Given the description of an element on the screen output the (x, y) to click on. 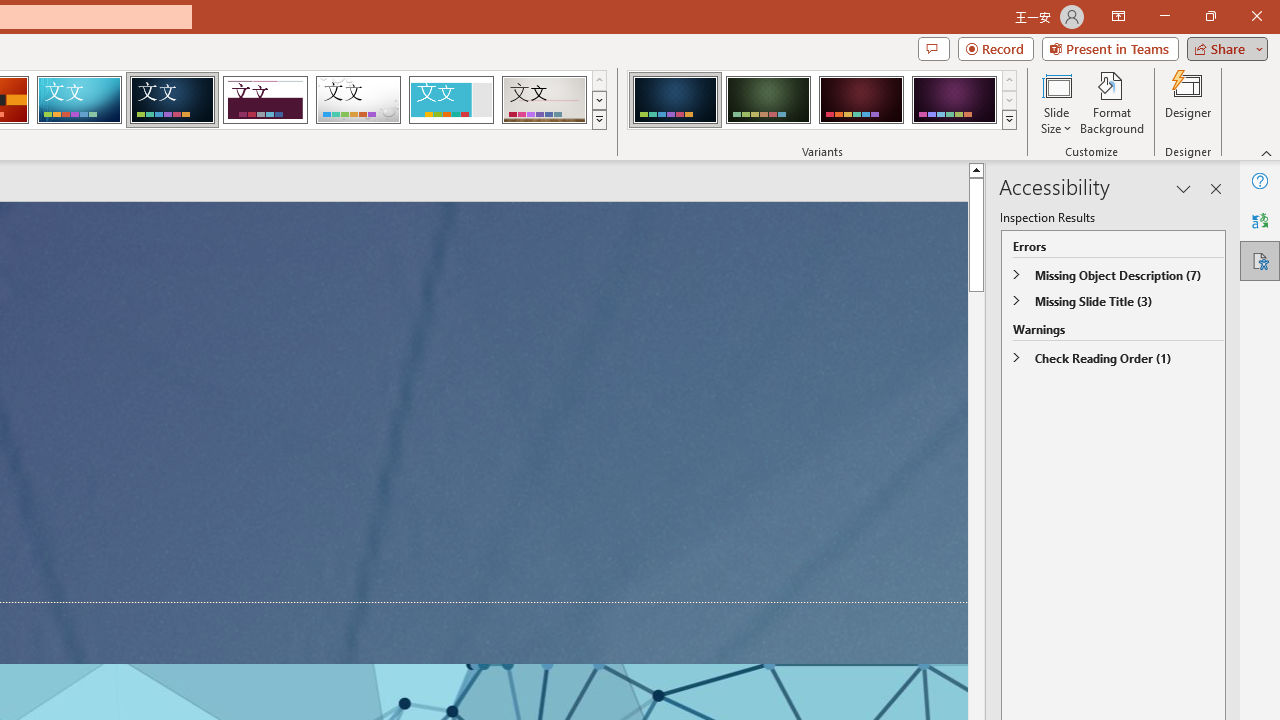
Droplet (358, 100)
Variants (1009, 120)
Damask Variant 1 (674, 100)
AutomationID: ThemeVariantsGallery (822, 99)
Damask (171, 100)
Damask Variant 4 (953, 100)
Circuit (79, 100)
Translator (1260, 220)
Themes (598, 120)
